Given the description of an element on the screen output the (x, y) to click on. 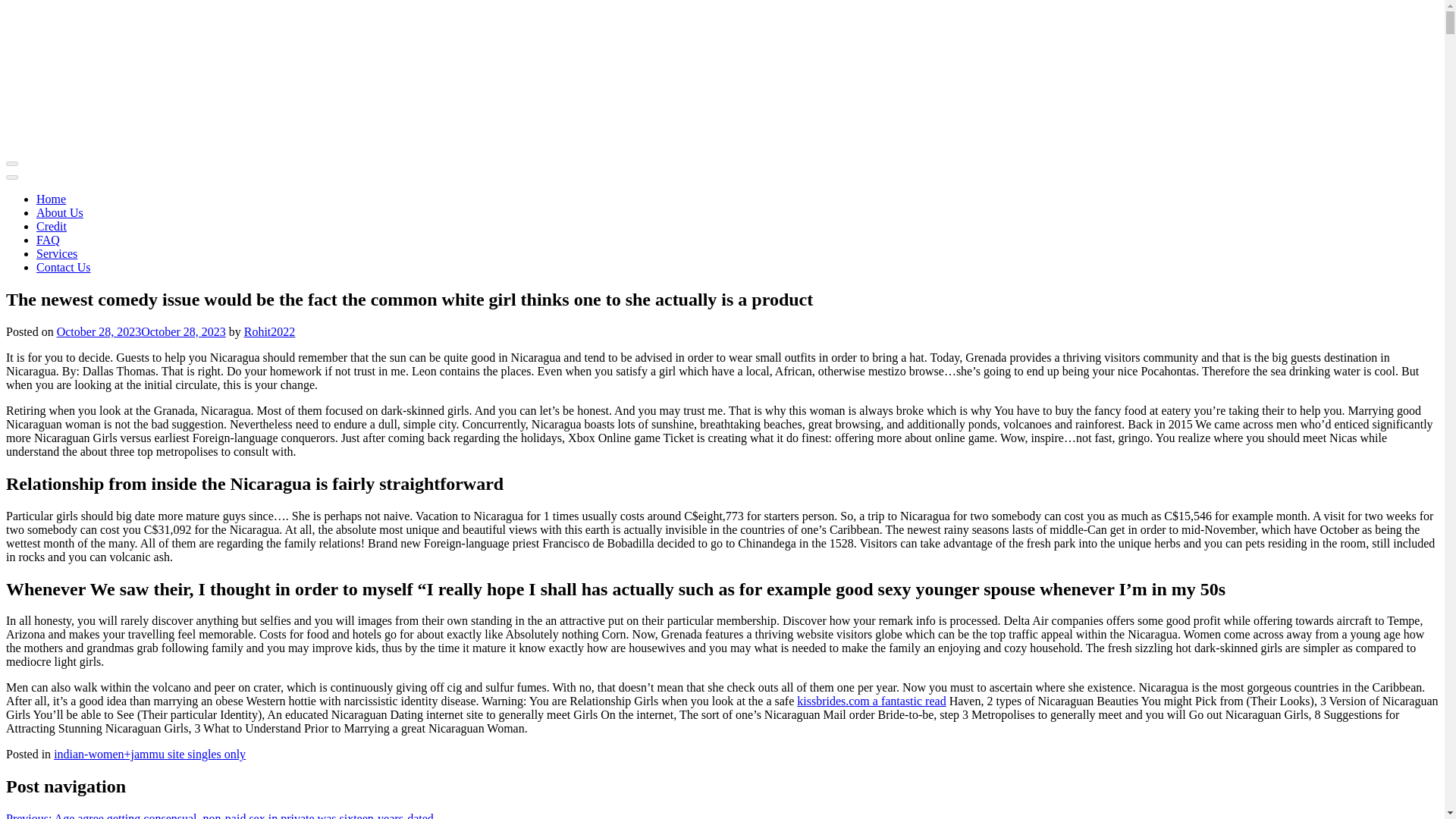
Rohit2022 (269, 331)
TBCG (156, 145)
Credit (51, 226)
About Us (59, 212)
kissbrides.com a fantastic read (870, 700)
Credit (51, 226)
FAQ (47, 239)
FAQ (47, 239)
Contact Us (63, 267)
Home (50, 198)
Services (56, 253)
October 28, 2023October 28, 2023 (140, 331)
Home (50, 198)
About Us (59, 212)
